Given the description of an element on the screen output the (x, y) to click on. 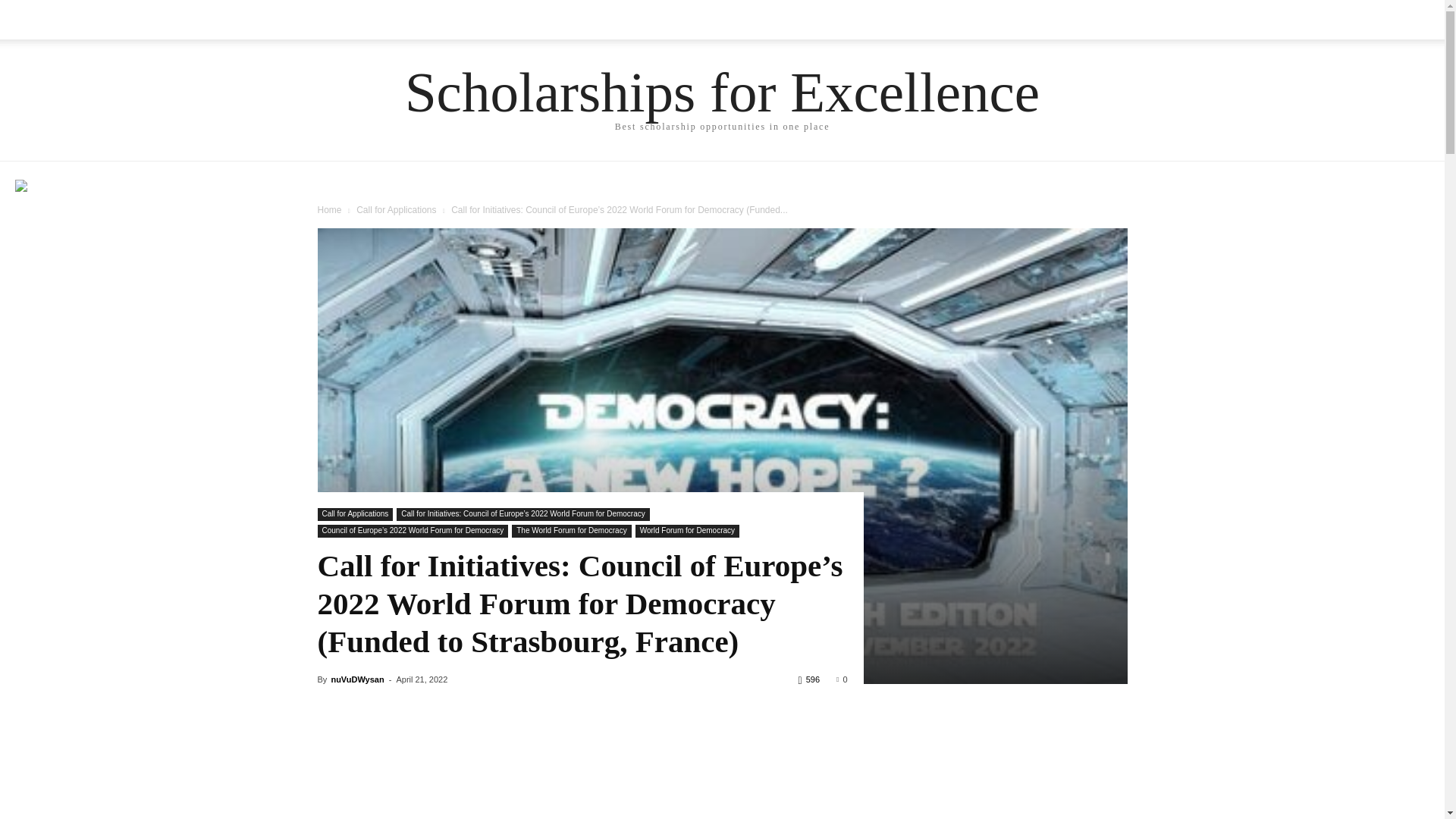
Advertisement (580, 798)
nuVuDWysan (357, 678)
World Forum for Democracy (686, 530)
Call for Applications (395, 209)
Home (328, 209)
Call for Applications (355, 513)
The World Forum for Democracy (571, 530)
0 (841, 678)
View all posts in Call for Applications (395, 209)
